Given the description of an element on the screen output the (x, y) to click on. 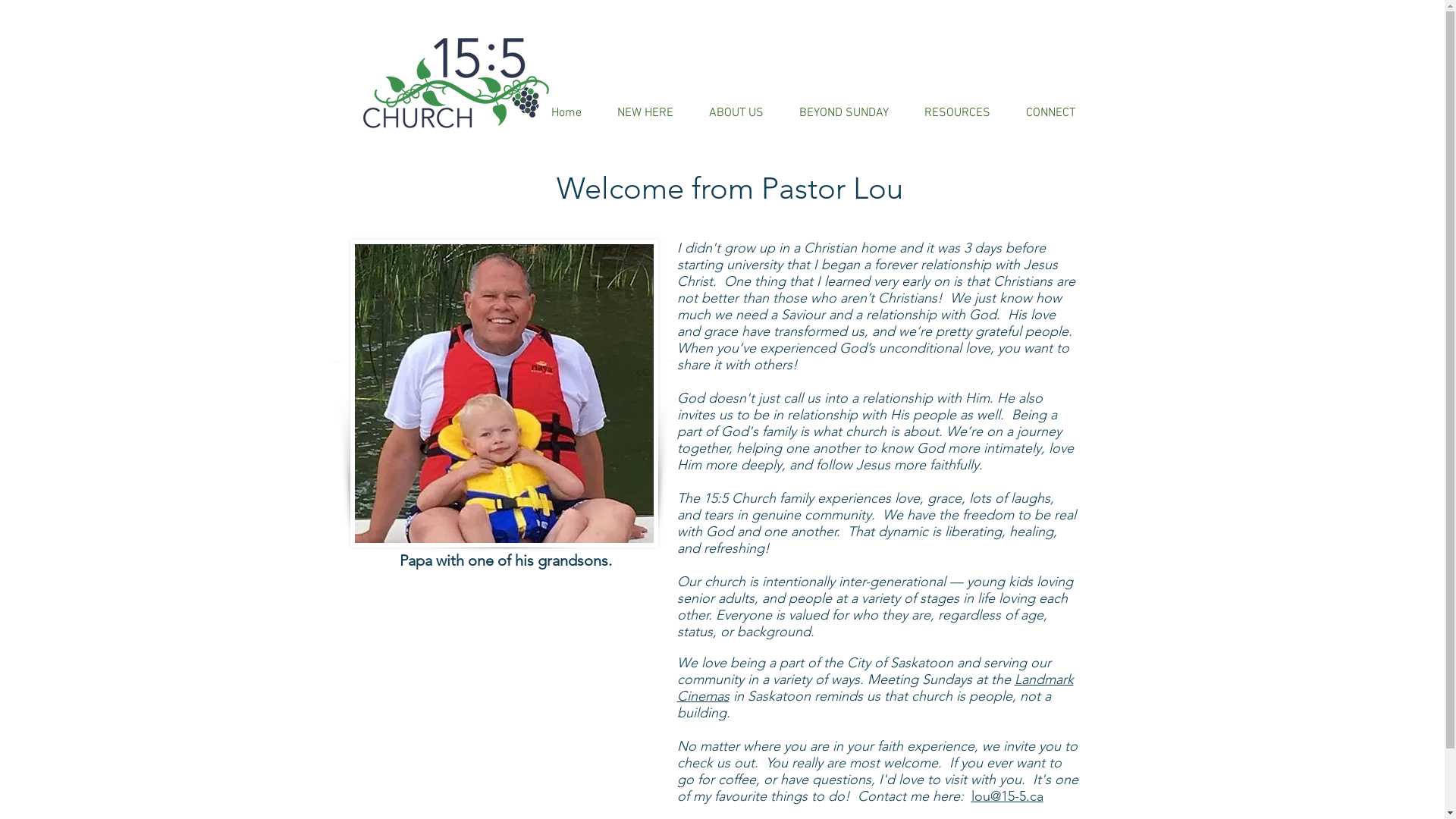
Landmark Cinemas Element type: text (874, 687)
BEYOND SUNDAY Element type: text (843, 112)
Home Element type: text (565, 112)
lou@15-5.ca Element type: text (1006, 796)
